Given the description of an element on the screen output the (x, y) to click on. 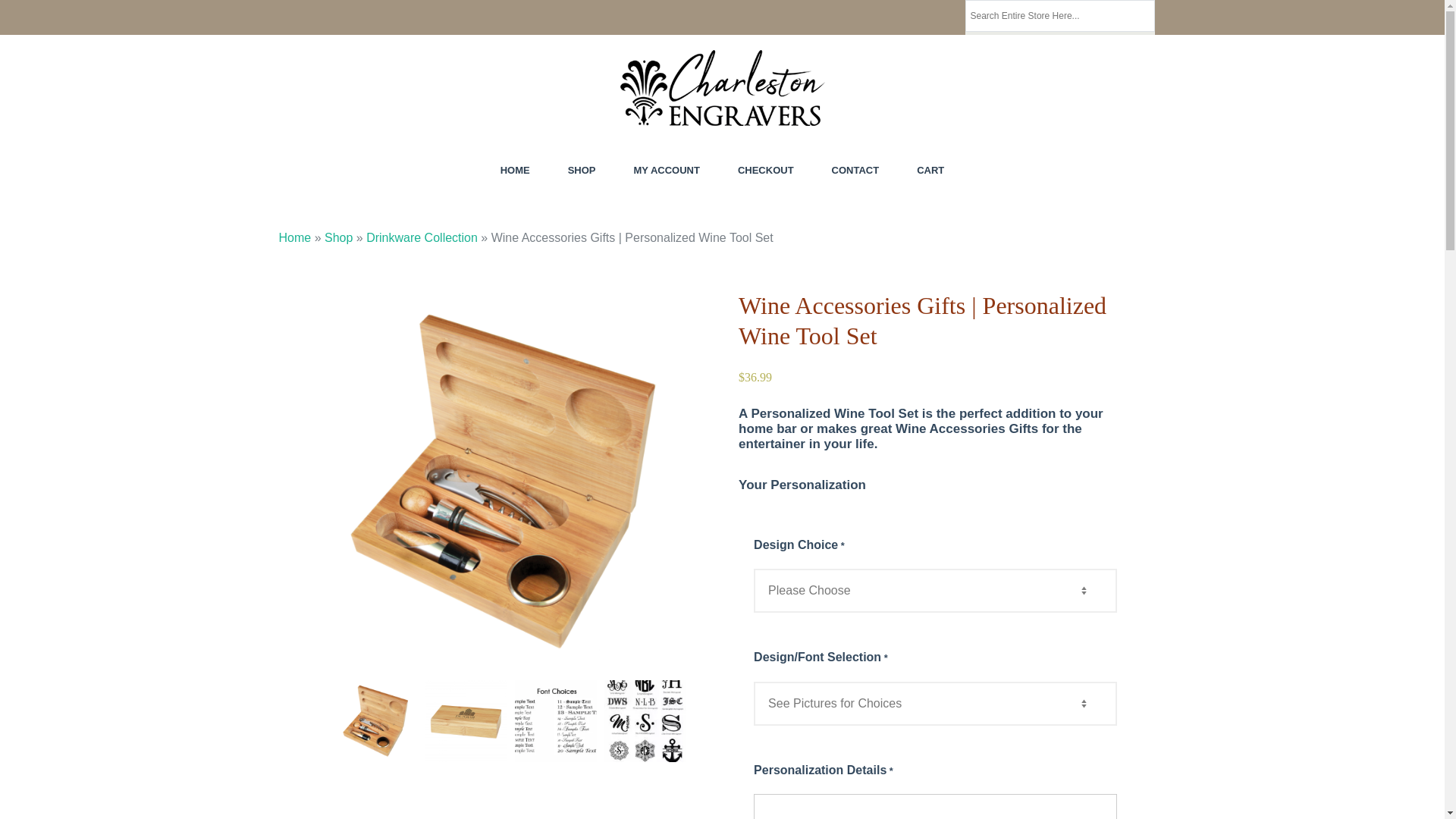
SHOP (581, 169)
Shop (338, 237)
Font Choices (554, 721)
Charleston Engravers (348, 144)
Monogram Design Choices (644, 721)
HOME (514, 169)
wine accessories gifts (375, 721)
CONTACT (855, 169)
CART (930, 169)
CHECKOUT (765, 169)
MY ACCOUNT (666, 169)
Home (295, 237)
personalized wine accessories (465, 721)
